Given the description of an element on the screen output the (x, y) to click on. 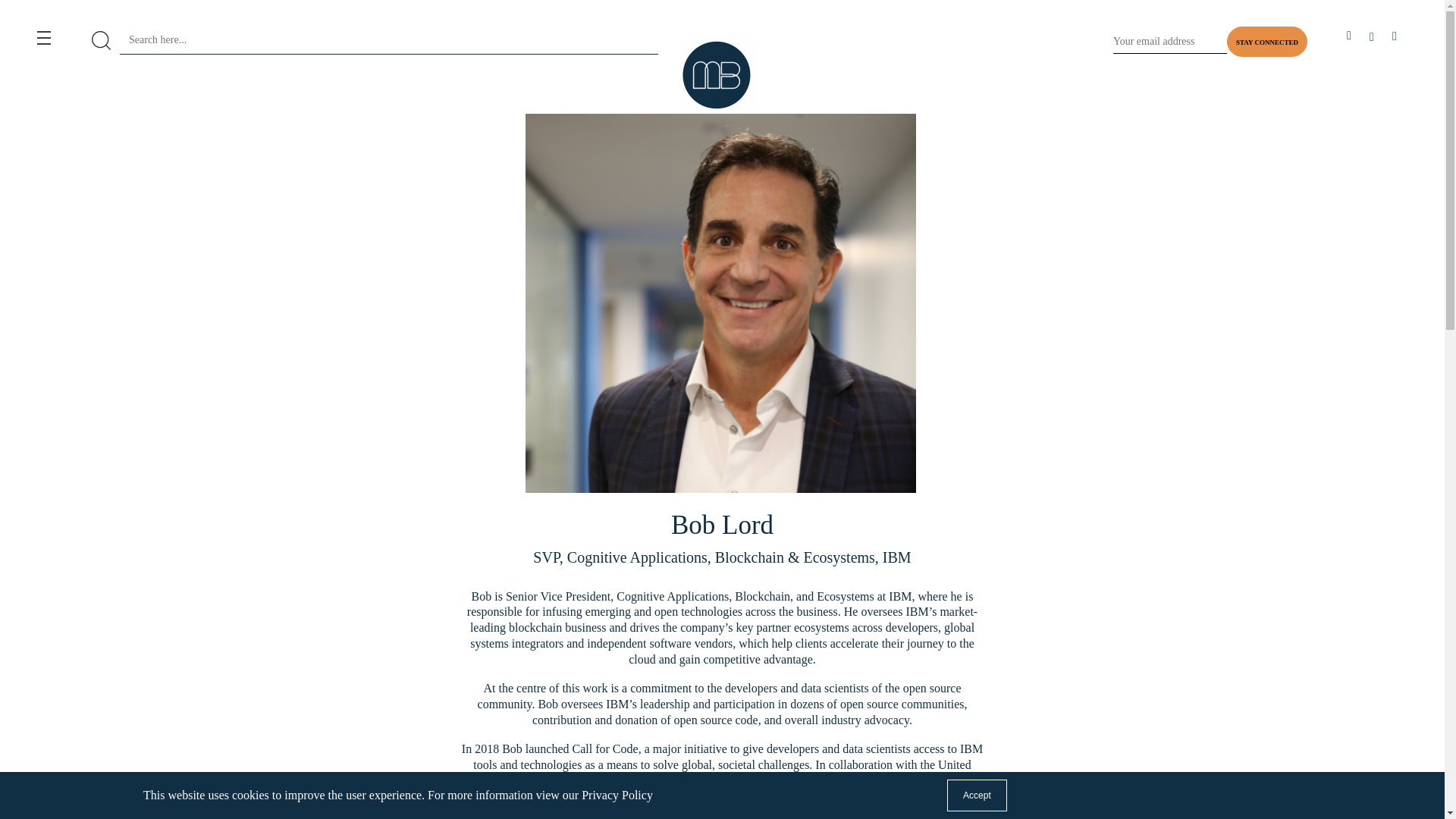
Instagram (1394, 41)
Primary Menu (64, 40)
Stay Connected (1267, 41)
Twitter (1371, 41)
Stay Connected (1267, 41)
LinkedIn (1348, 41)
